Given the description of an element on the screen output the (x, y) to click on. 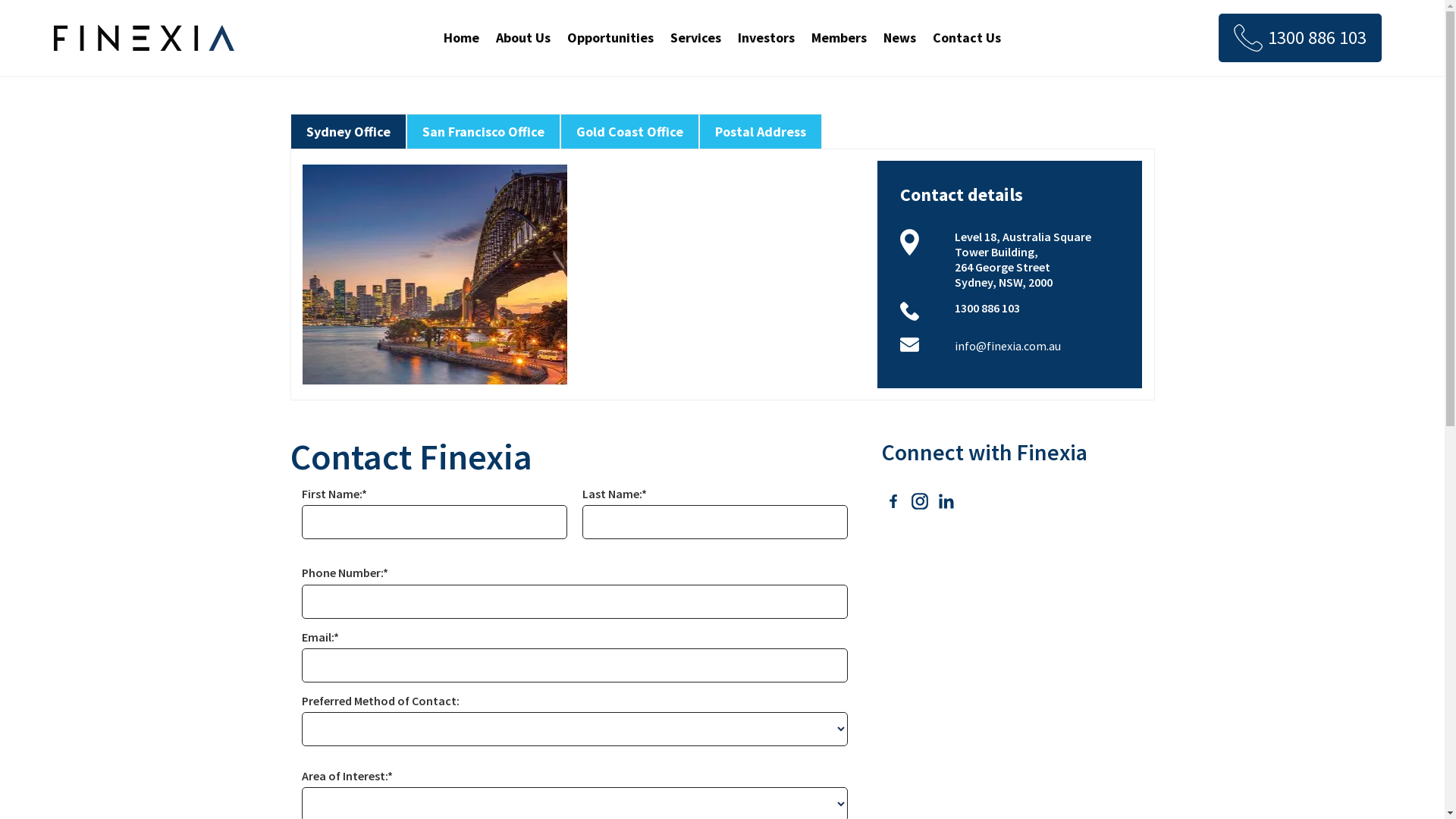
About Us Element type: text (523, 37)
Opportunities Element type: text (610, 37)
Services Element type: text (695, 37)
Postal Address Element type: text (759, 131)
San Francisco Office Element type: text (482, 131)
1300 886 103 Element type: text (986, 307)
Investors Element type: text (766, 37)
Members Element type: text (838, 37)
Contact Us Element type: text (966, 37)
Finexia Financial Group Limited Element type: hover (144, 37)
Sydney Office Element type: text (348, 131)
Gold Coast Office Element type: text (629, 131)
1300 886 103 Element type: text (1299, 37)
info@finexia.com.au Element type: text (1007, 345)
News Element type: text (899, 37)
Home Element type: text (461, 37)
